Given the description of an element on the screen output the (x, y) to click on. 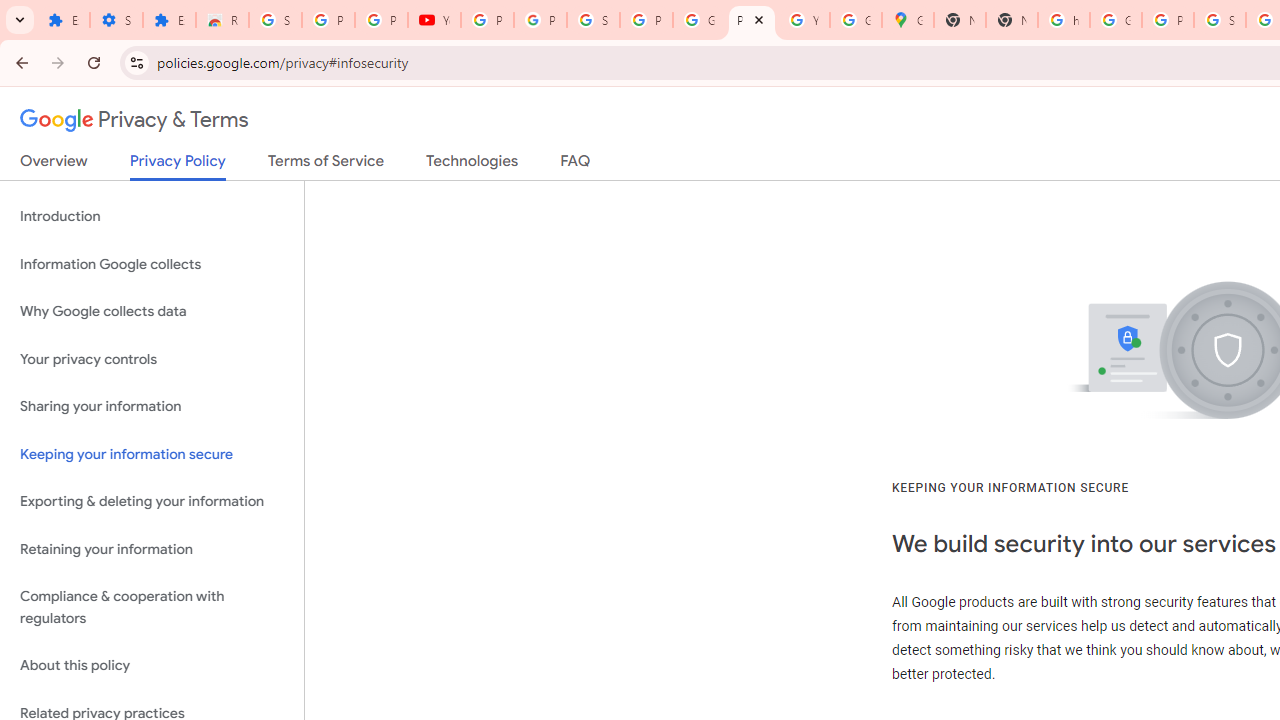
New Tab (1011, 20)
Reviews: Helix Fruit Jump Arcade Game (222, 20)
New Tab (959, 20)
